Given the description of an element on the screen output the (x, y) to click on. 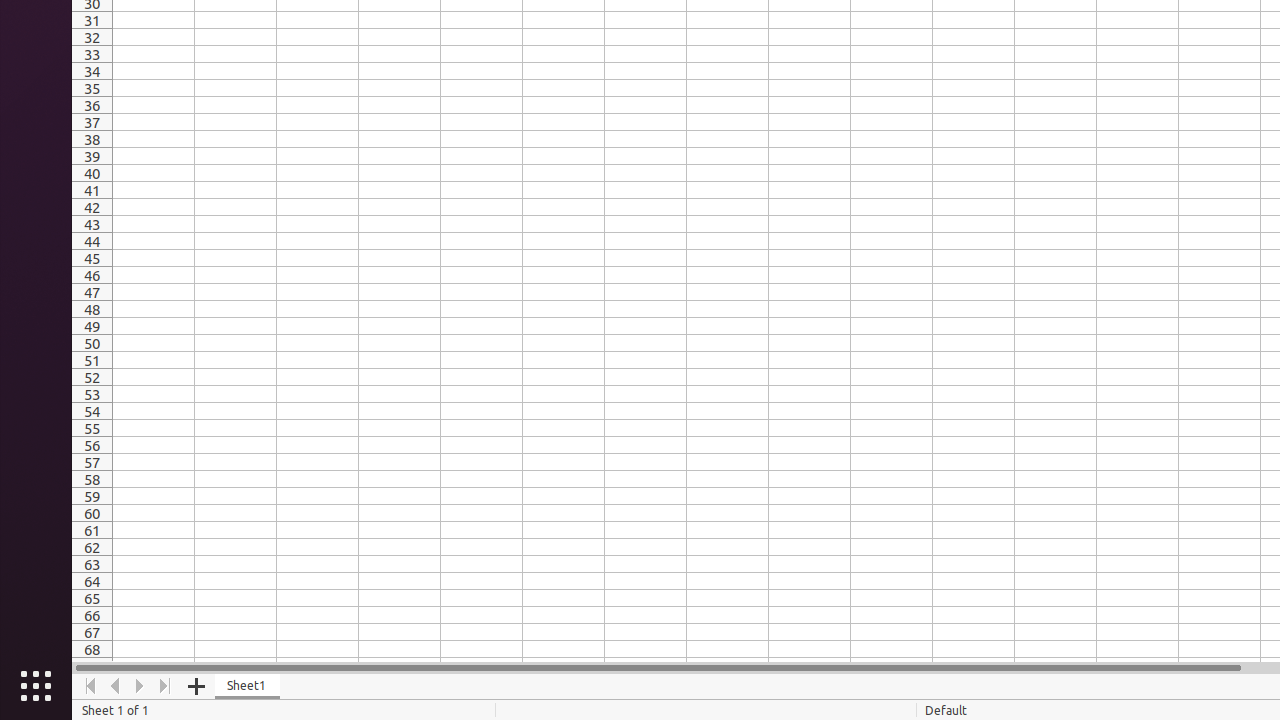
Sheet1 Element type: page-tab (247, 686)
